Given the description of an element on the screen output the (x, y) to click on. 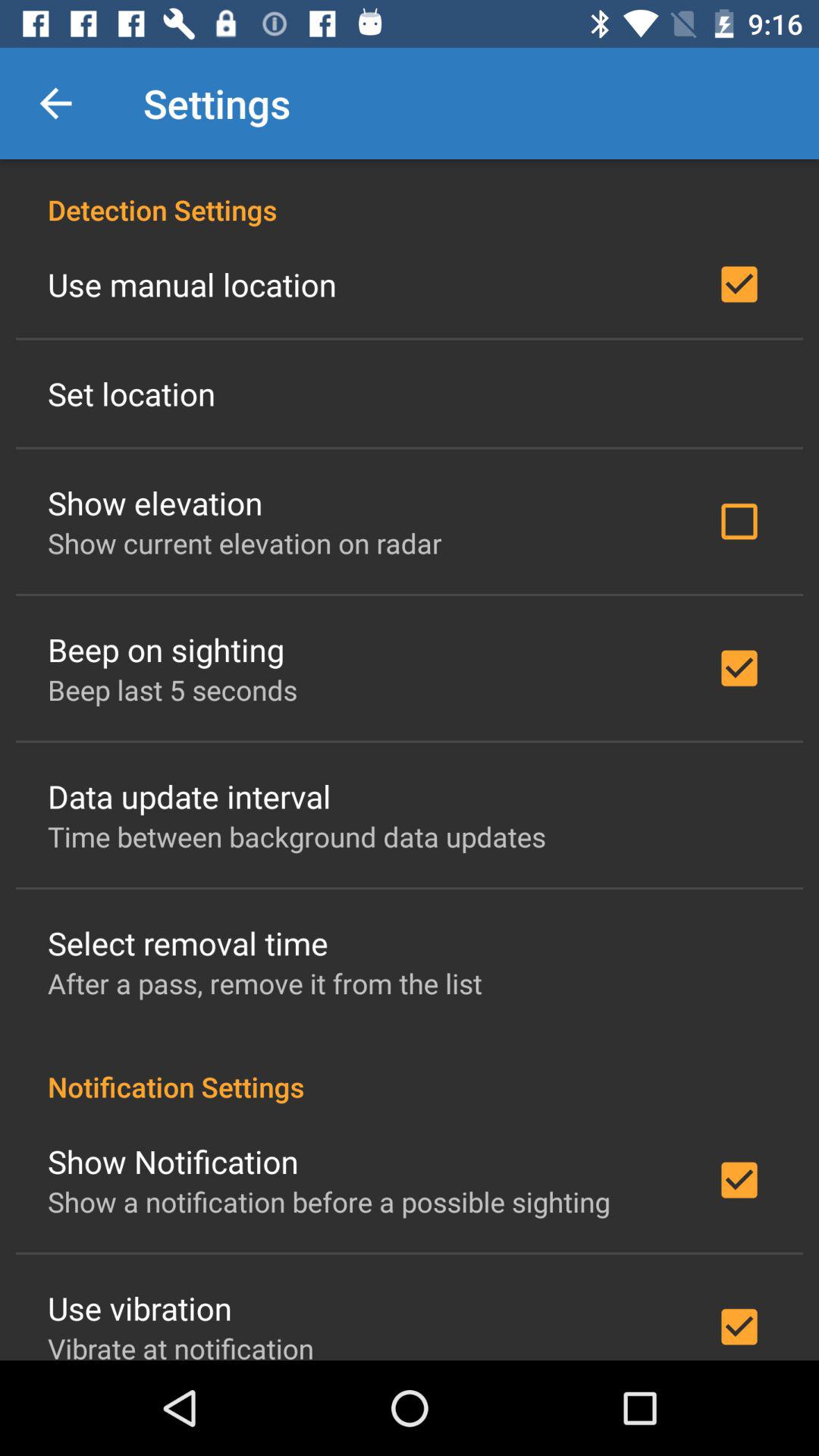
click the select removal time item (187, 942)
